Given the description of an element on the screen output the (x, y) to click on. 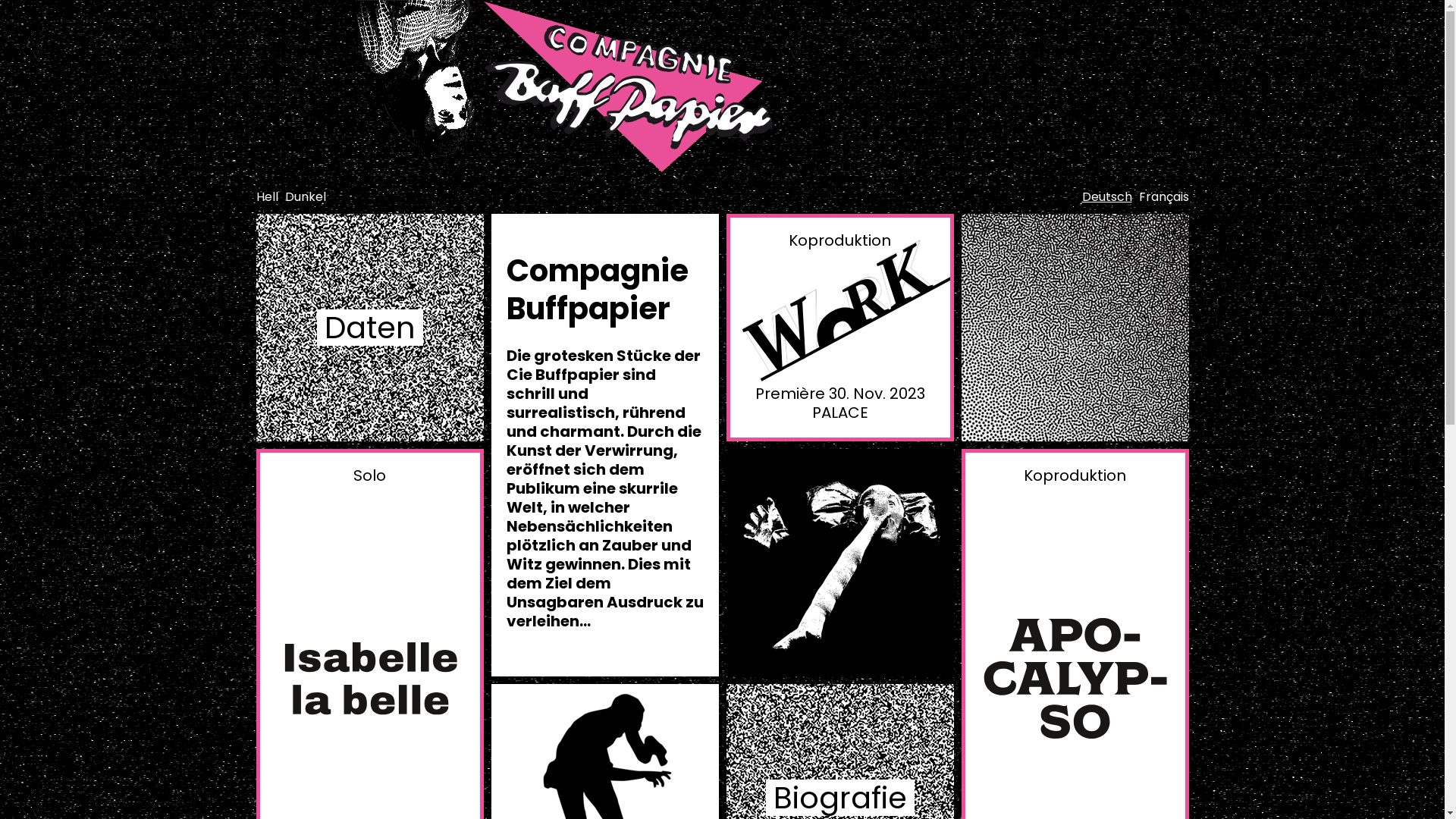
Daten Element type: text (369, 327)
